Given the description of an element on the screen output the (x, y) to click on. 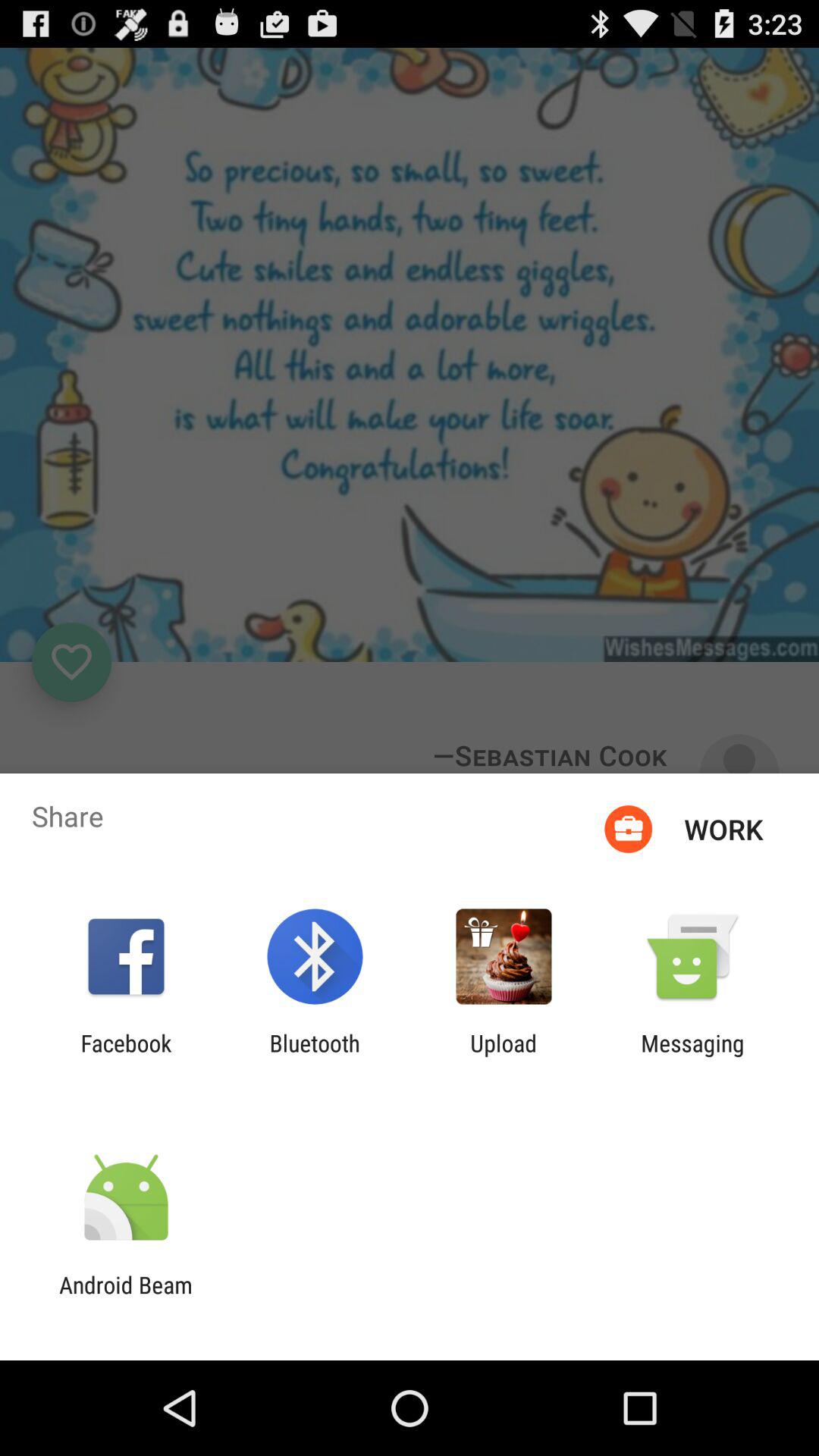
tap app to the right of the upload app (692, 1056)
